Given the description of an element on the screen output the (x, y) to click on. 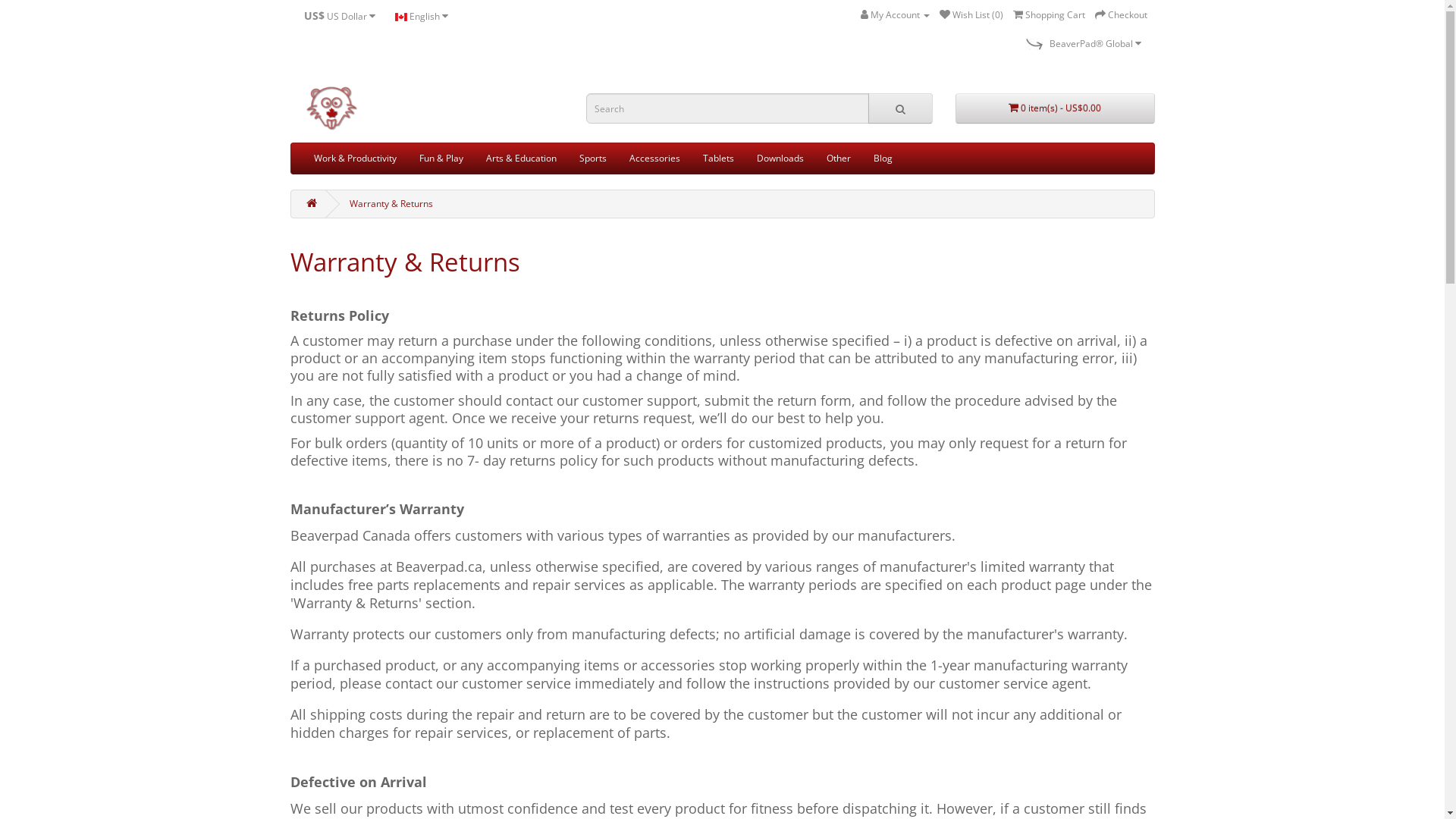
Warranty & Returns Element type: text (390, 203)
0 item(s) - US$0.00 Element type: text (1054, 108)
English  Element type: text (421, 15)
Work & Productivity Element type: text (354, 158)
Blog Element type: text (882, 158)
Shopping Cart Element type: text (1049, 14)
Sports Element type: text (592, 158)
English Element type: hover (400, 16)
Arts & Education Element type: text (520, 158)
Wish List (0) Element type: text (970, 14)
US$ US Dollar Element type: text (339, 15)
Tablets Element type: text (718, 158)
Checkout Element type: text (1121, 14)
Fun & Play Element type: text (440, 158)
Other Element type: text (837, 158)
My Account Element type: text (893, 14)
Accessories Element type: text (653, 158)
Downloads Element type: text (779, 158)
